Given the description of an element on the screen output the (x, y) to click on. 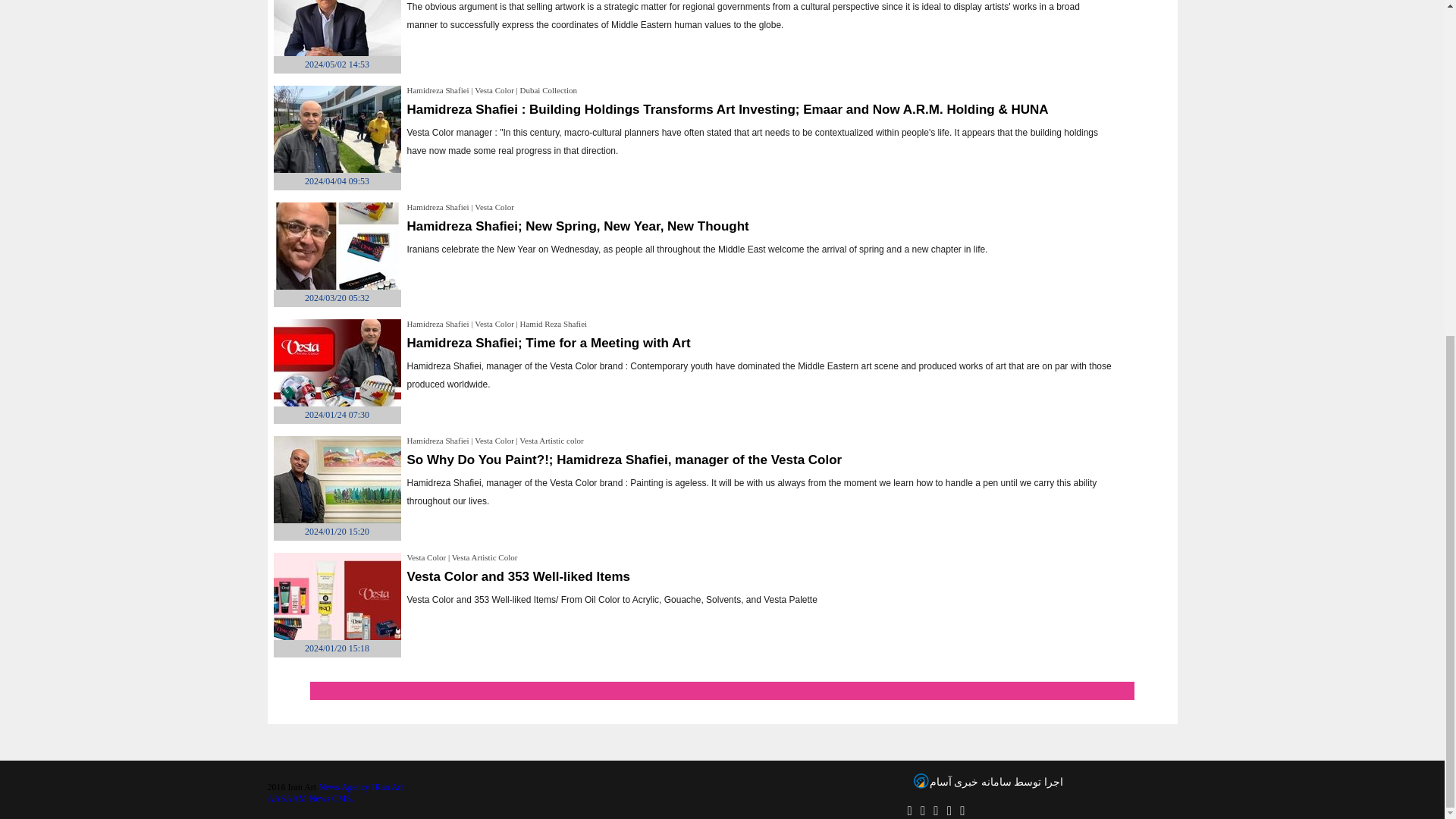
AASAAM News CMS. (585, 801)
Hamidreza Shafiei; Time for a Meeting with Art (548, 342)
Hamidreza Shafiei; New Spring, New Year, New Thought (577, 226)
Vesta Color and 353 Well-liked Items (517, 576)
AASAAM News CMS (585, 801)
News Agency IRan Art (360, 787)
